Given the description of an element on the screen output the (x, y) to click on. 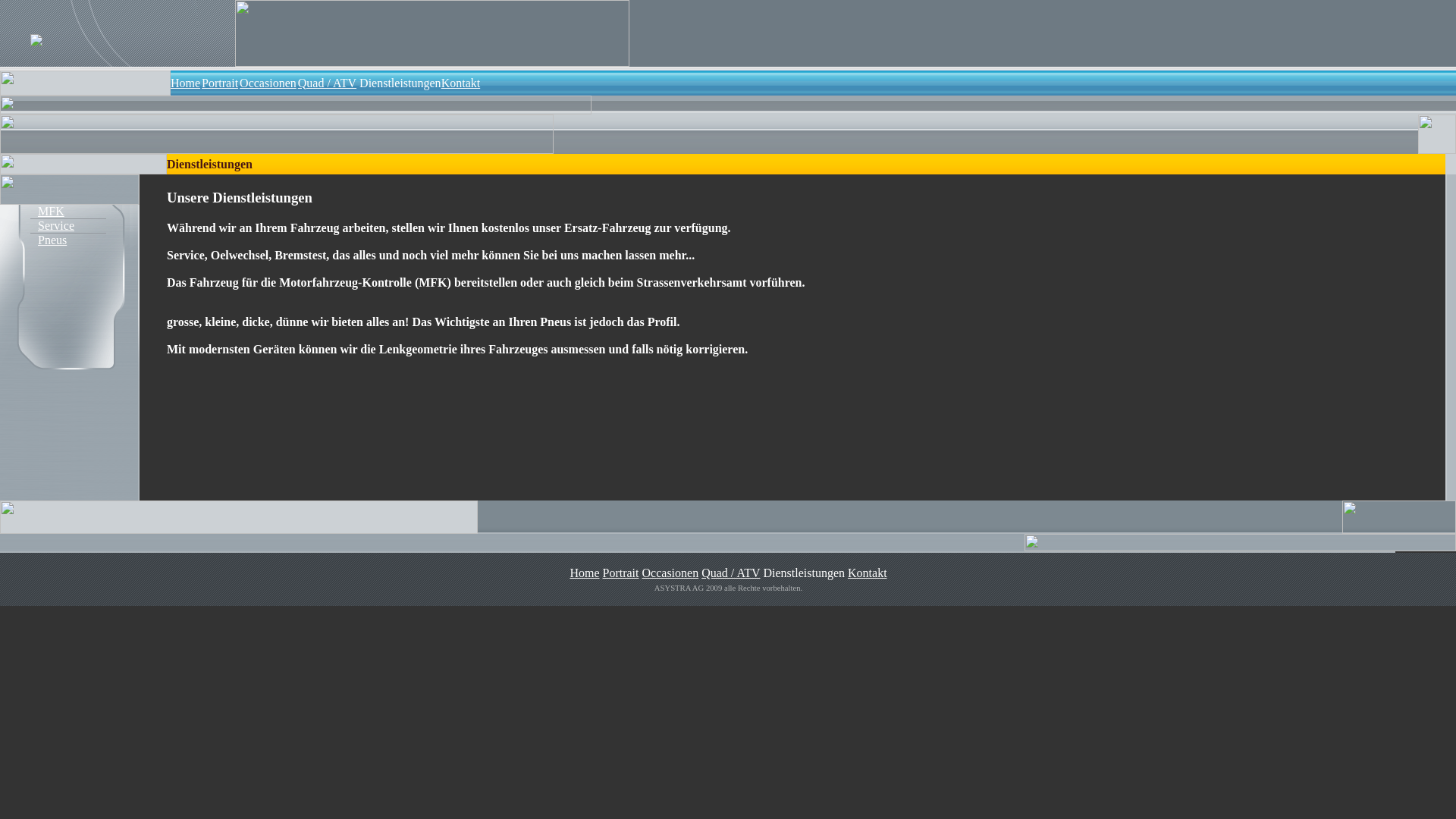
Occasionen Element type: text (670, 572)
Home Element type: text (185, 81)
Pneus Element type: text (48, 239)
Quad / ATV Element type: text (327, 81)
Portrait Element type: text (620, 572)
Kontakt Element type: text (460, 81)
Service Element type: text (52, 225)
Occasionen Element type: text (267, 81)
Home Element type: text (584, 572)
Kontakt Element type: text (867, 572)
Portrait Element type: text (219, 81)
Quad / ATV Element type: text (730, 572)
MFK Element type: text (47, 210)
